Given the description of an element on the screen output the (x, y) to click on. 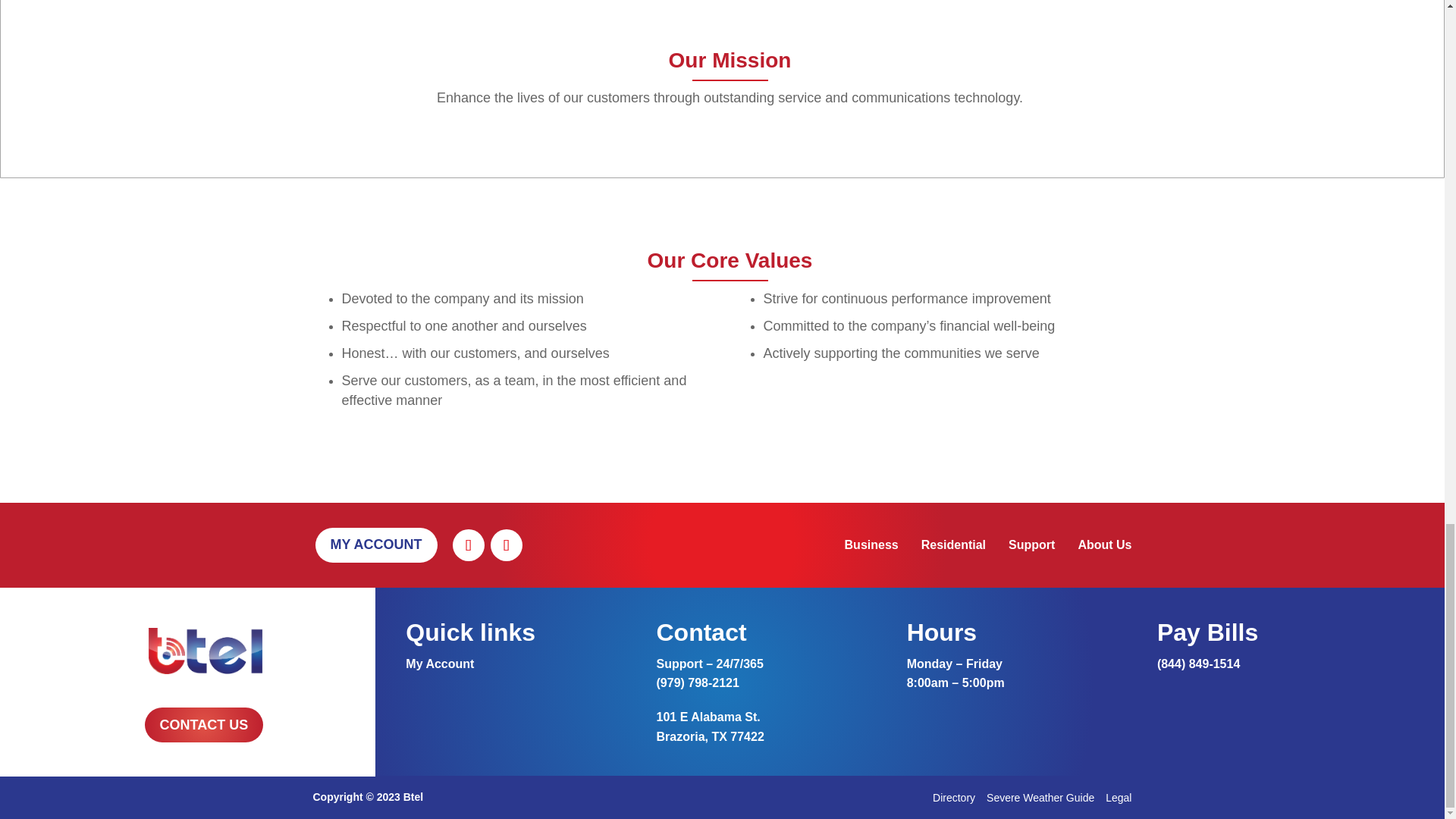
Login (440, 663)
Follow on Facebook (467, 545)
9797982121 (697, 682)
8448491514 (1198, 663)
Follow on Instagram (505, 545)
